Given the description of an element on the screen output the (x, y) to click on. 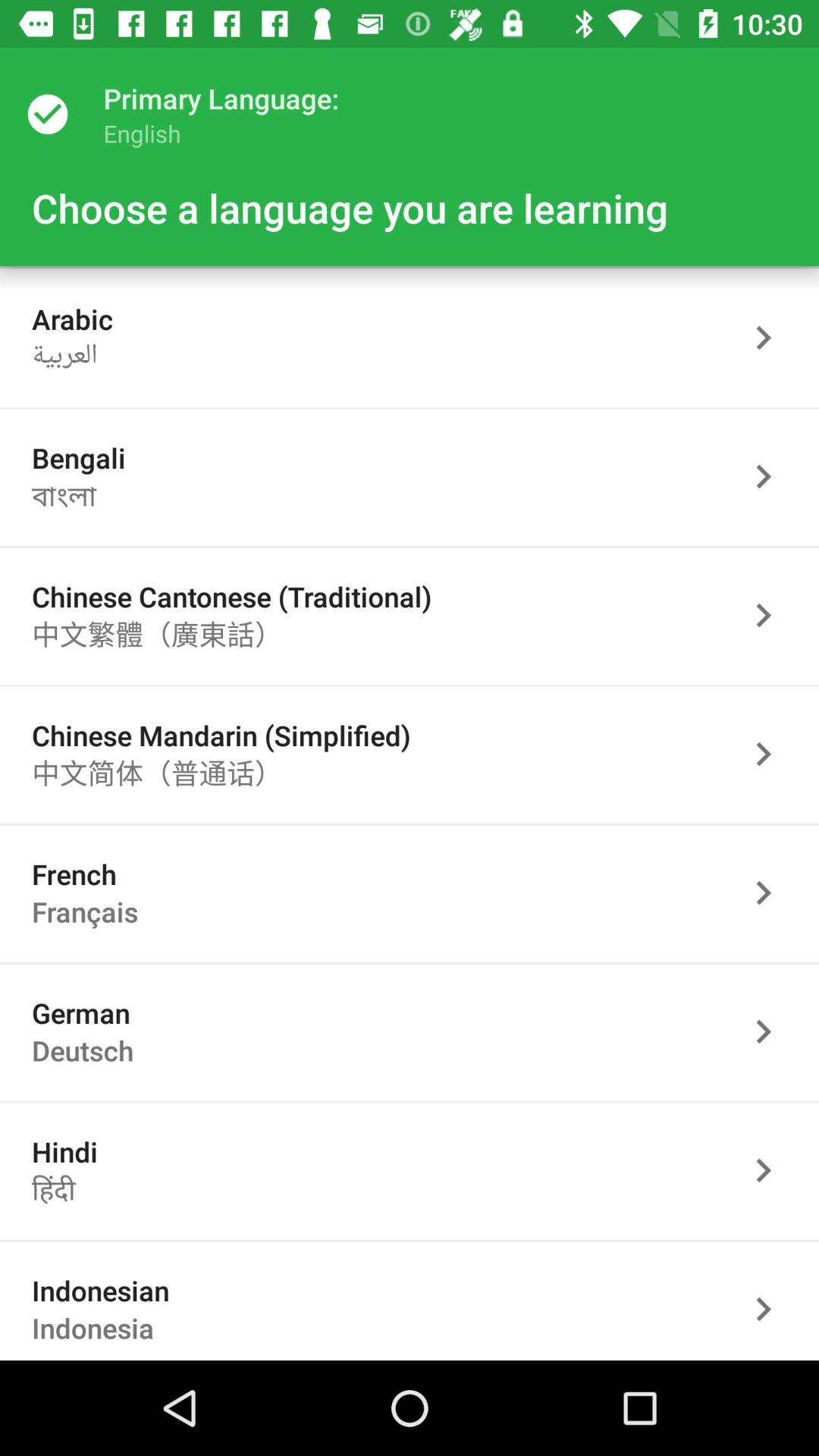
go forward button (771, 476)
